Given the description of an element on the screen output the (x, y) to click on. 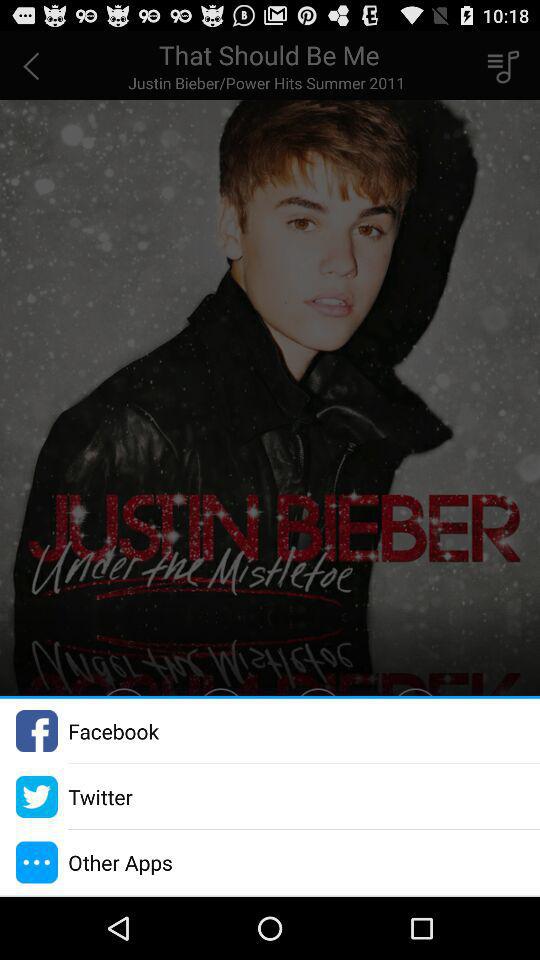
click facebook icon (113, 730)
